Given the description of an element on the screen output the (x, y) to click on. 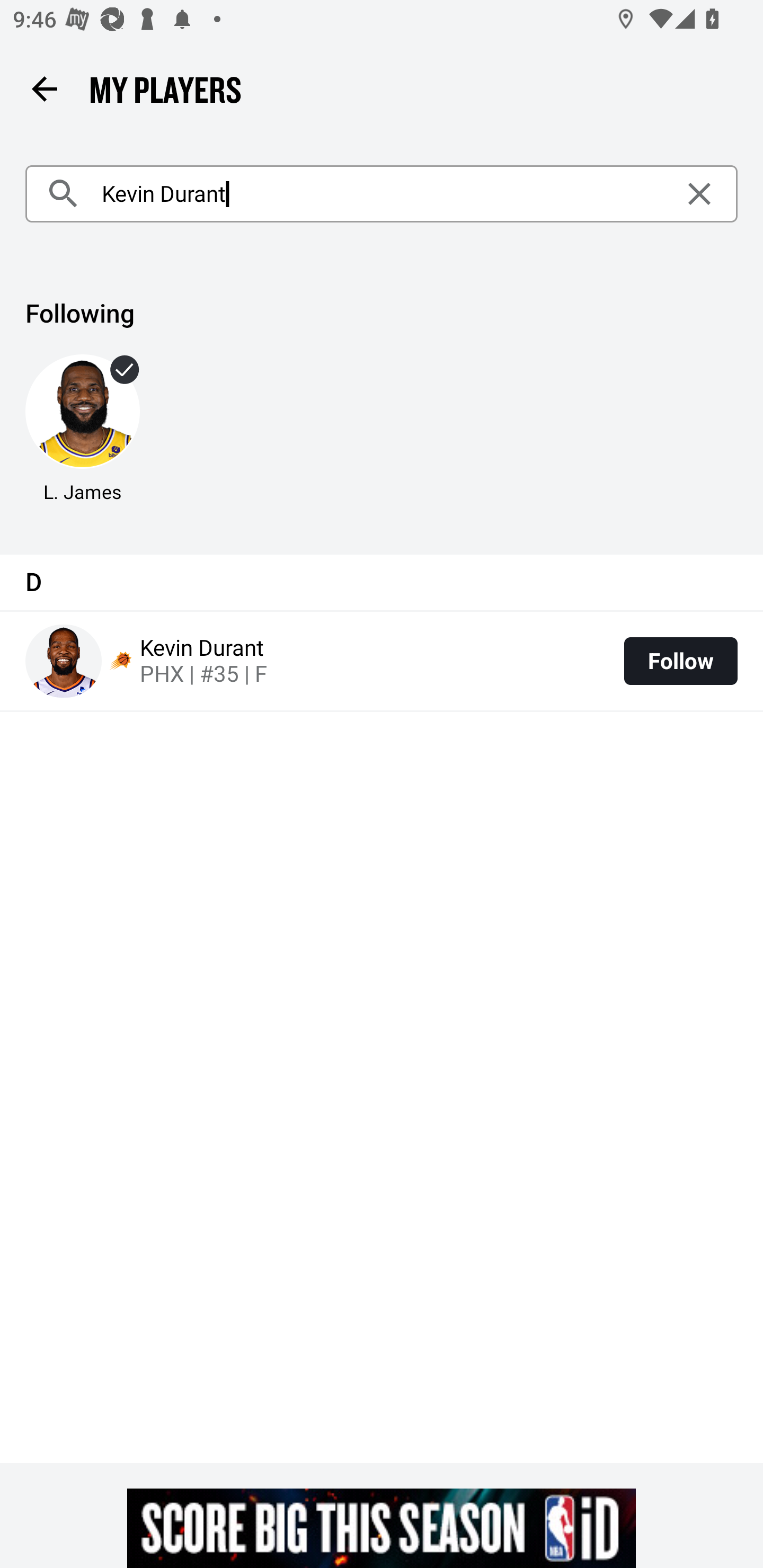
Back button (44, 88)
Kevin Durant (381, 193)
Follow (680, 660)
g5nqqygr7owph (381, 1528)
